Given the description of an element on the screen output the (x, y) to click on. 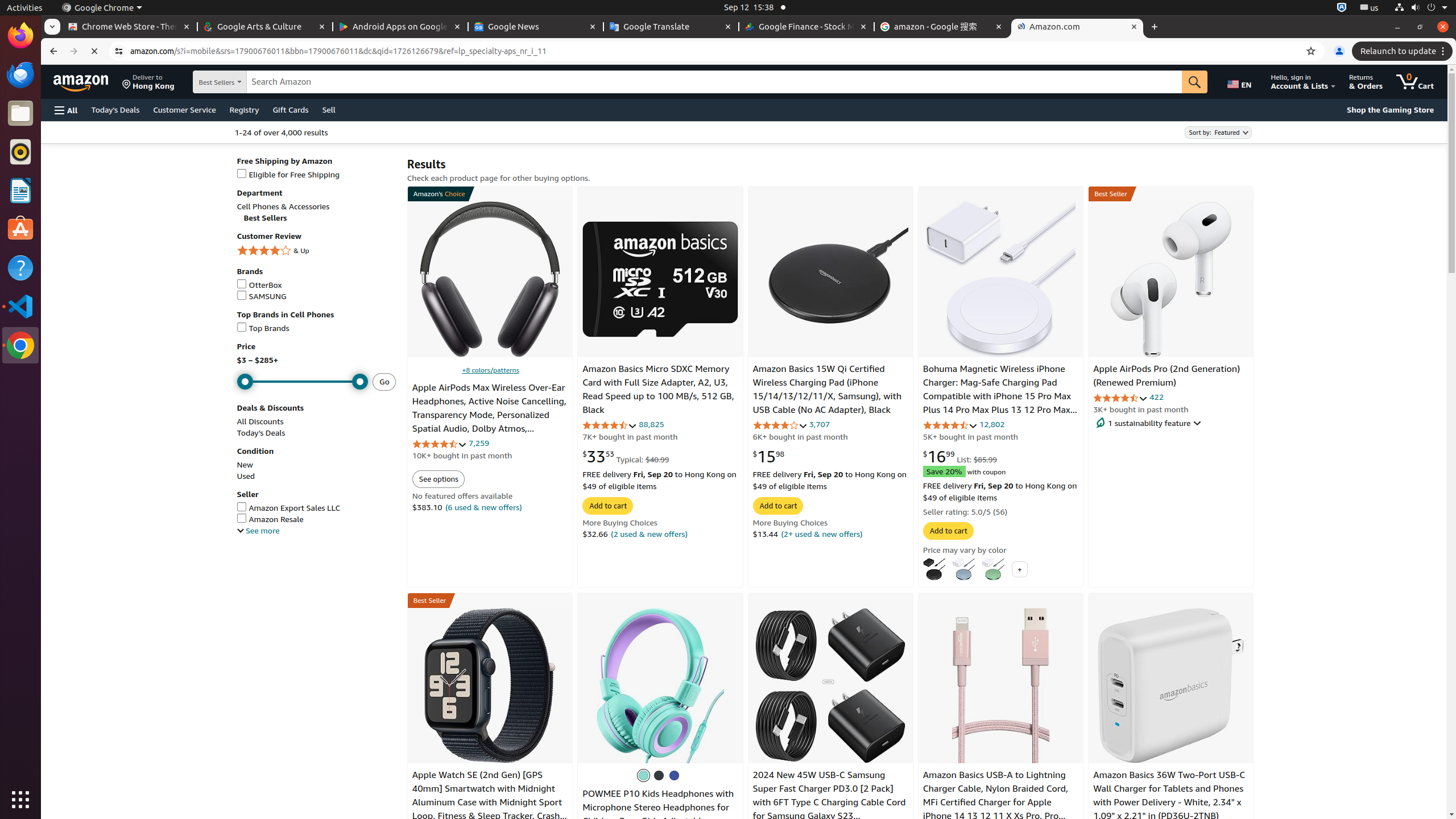
Rhythmbox Element type: push-button (20, 151)
7,259 Element type: link (478, 442)
Amazon Basics USB-A to Lightning Charger Cable, Nylon Braided Cord, MFi Certified Charger for Apple iPhone 14 13 12 11 X X... Element type: link (1000, 685)
12,802 Element type: link (991, 423)
LibreOffice Writer Element type: push-button (20, 190)
